Given the description of an element on the screen output the (x, y) to click on. 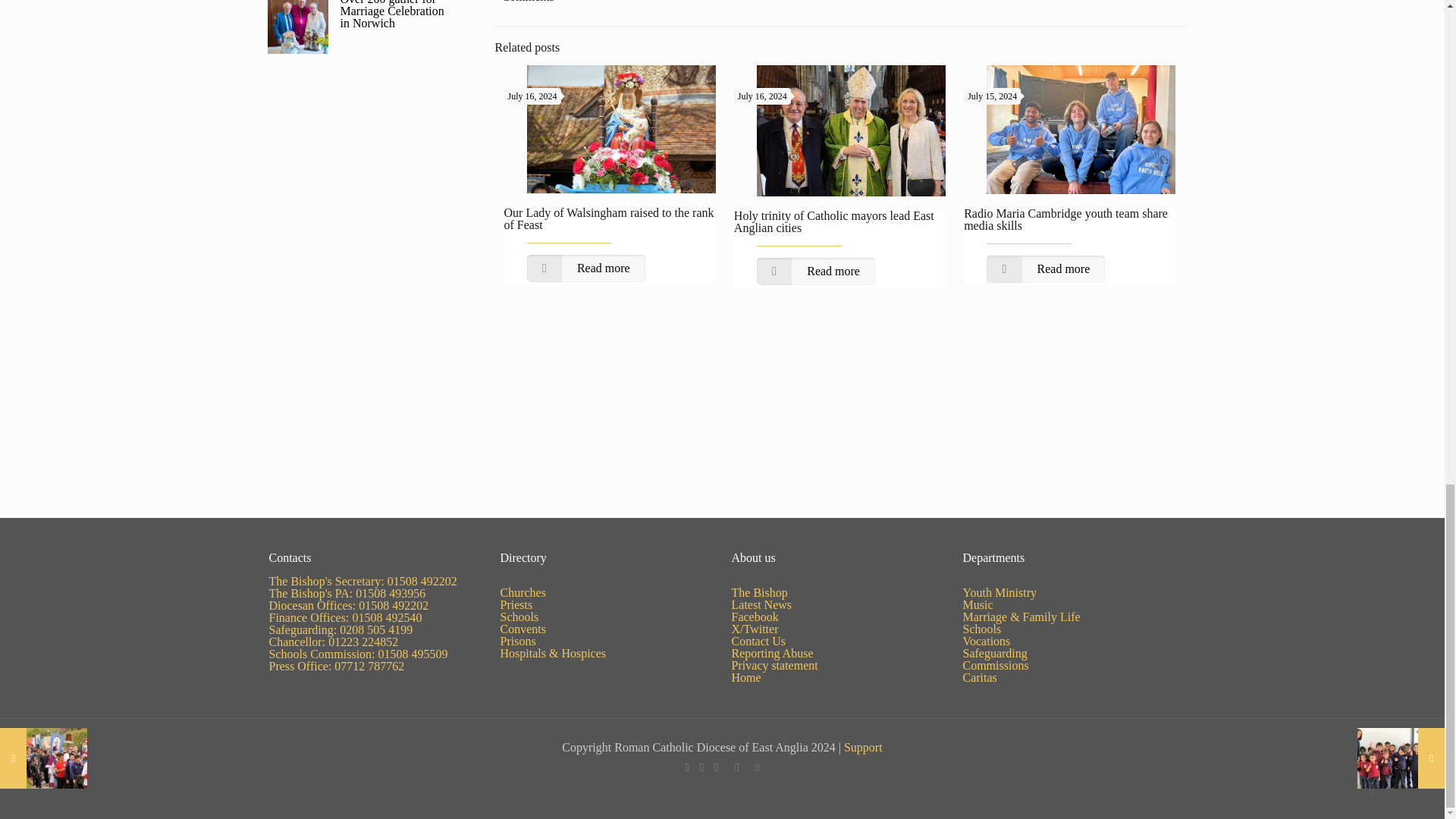
YouTube (715, 767)
Flickr (736, 767)
RSS (757, 767)
Facebook (687, 767)
